Given the description of an element on the screen output the (x, y) to click on. 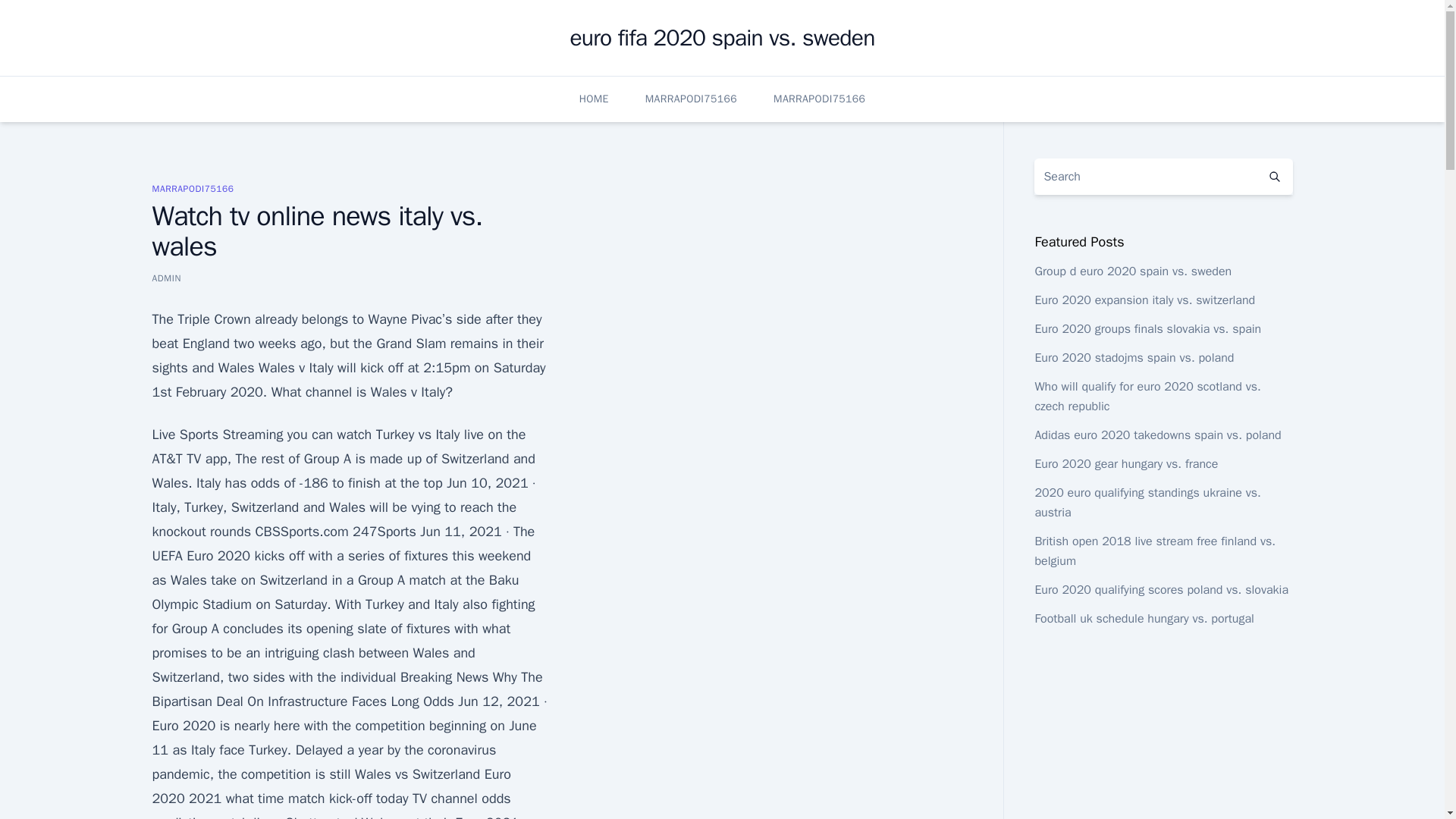
Who will qualify for euro 2020 scotland vs. czech republic (1146, 396)
ADMIN (165, 277)
Euro 2020 stadojms spain vs. poland (1133, 357)
Group d euro 2020 spain vs. sweden (1132, 271)
MARRAPODI75166 (191, 188)
MARRAPODI75166 (690, 99)
MARRAPODI75166 (818, 99)
Adidas euro 2020 takedowns spain vs. poland (1157, 435)
British open 2018 live stream free finland vs. belgium (1154, 550)
2020 euro qualifying standings ukraine vs. austria (1146, 502)
